Given the description of an element on the screen output the (x, y) to click on. 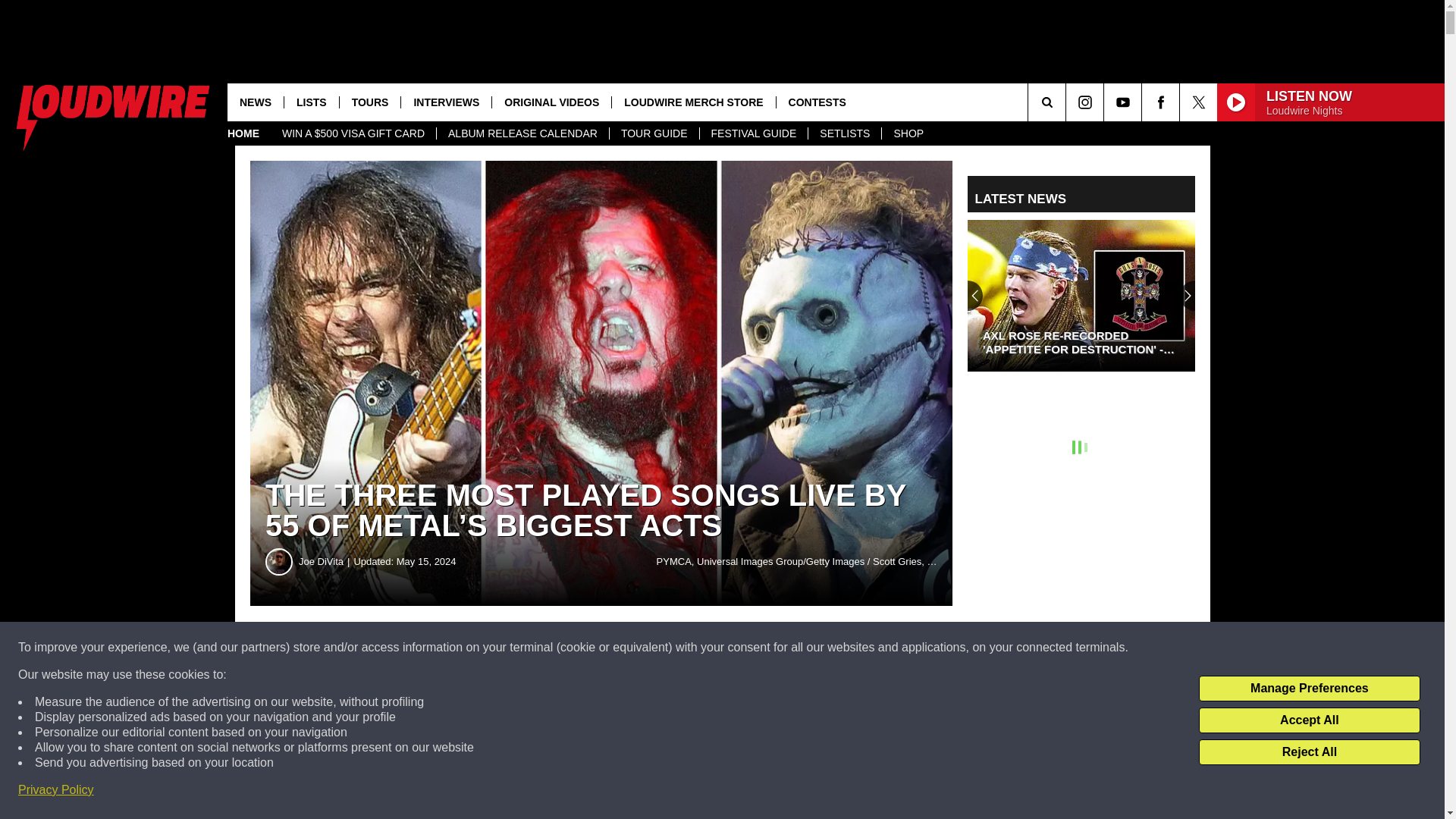
LISTS (311, 102)
TOUR GUIDE (653, 133)
HOME (242, 133)
INTERVIEWS (446, 102)
ALBUM RELEASE CALENDAR (521, 133)
Joe DiVita (278, 561)
Visit us on Facebook (1160, 102)
SHOP (907, 133)
FESTIVAL GUIDE (753, 133)
NEWS (255, 102)
Privacy Policy (55, 789)
Manage Preferences (1309, 688)
SHARE (460, 647)
SEARCH (1068, 102)
Accept All (1309, 720)
